Given the description of an element on the screen output the (x, y) to click on. 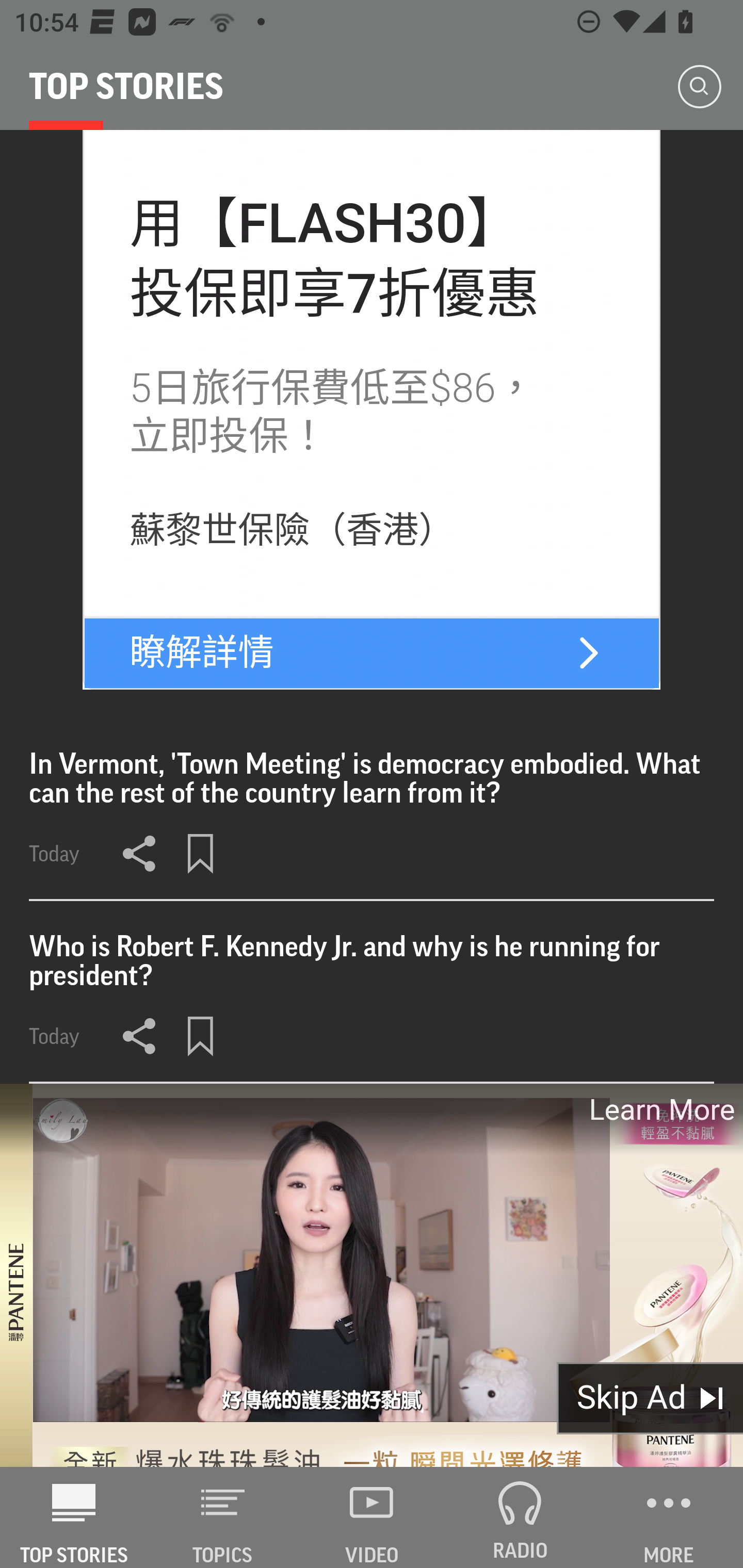
用【FLASH30】 投保即享7折優惠 用【FLASH30】 投保即享7折優惠 (334, 258)
5日旅行保費低至$86， 立即投保！ 5日旅行保費低至$86， 立即投保！ (332, 412)
蘇黎世保險（香港） (292, 530)
瞭解詳情 (202, 652)
Learn More (660, 1109)
Skip Ad (649, 1397)
AP News TOP STORIES (74, 1517)
TOPICS (222, 1517)
VIDEO (371, 1517)
RADIO (519, 1517)
MORE (668, 1517)
